Given the description of an element on the screen output the (x, y) to click on. 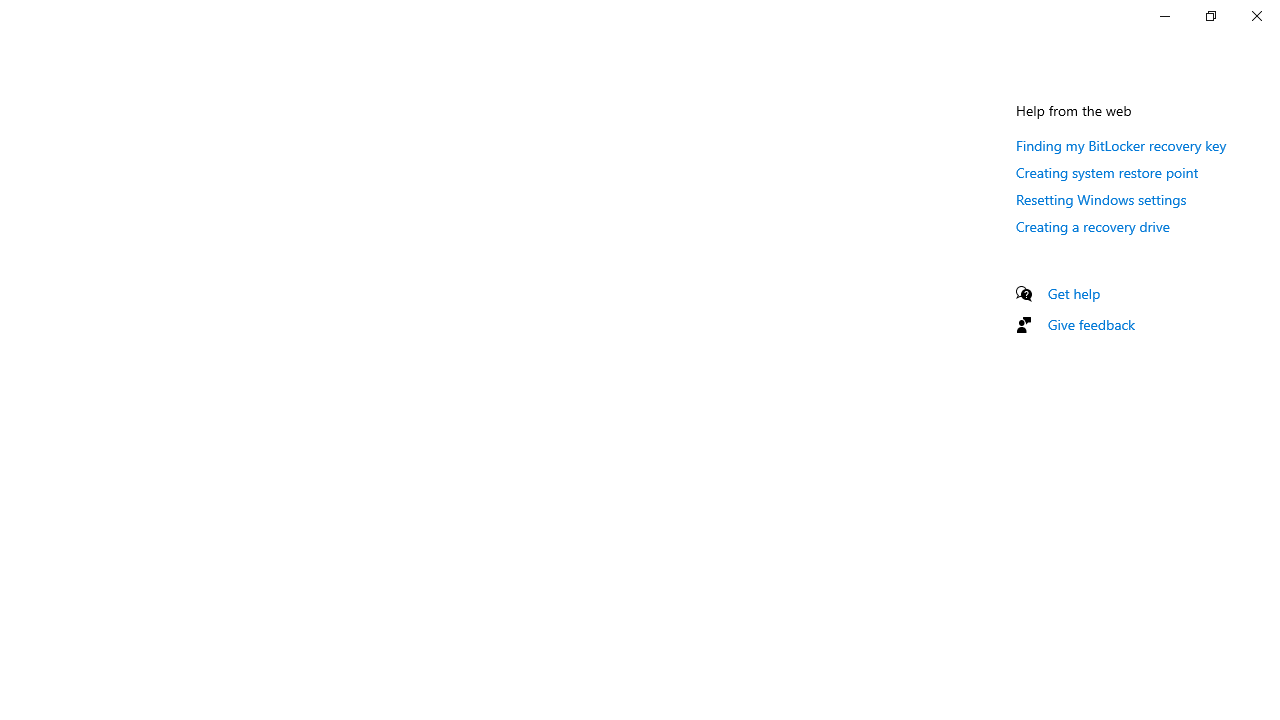
Finding my BitLocker recovery key (1121, 145)
Creating a recovery drive (1092, 226)
Get help (1074, 293)
Resetting Windows settings (1101, 199)
Creating system restore point (1107, 172)
Give feedback (1091, 324)
